Given the description of an element on the screen output the (x, y) to click on. 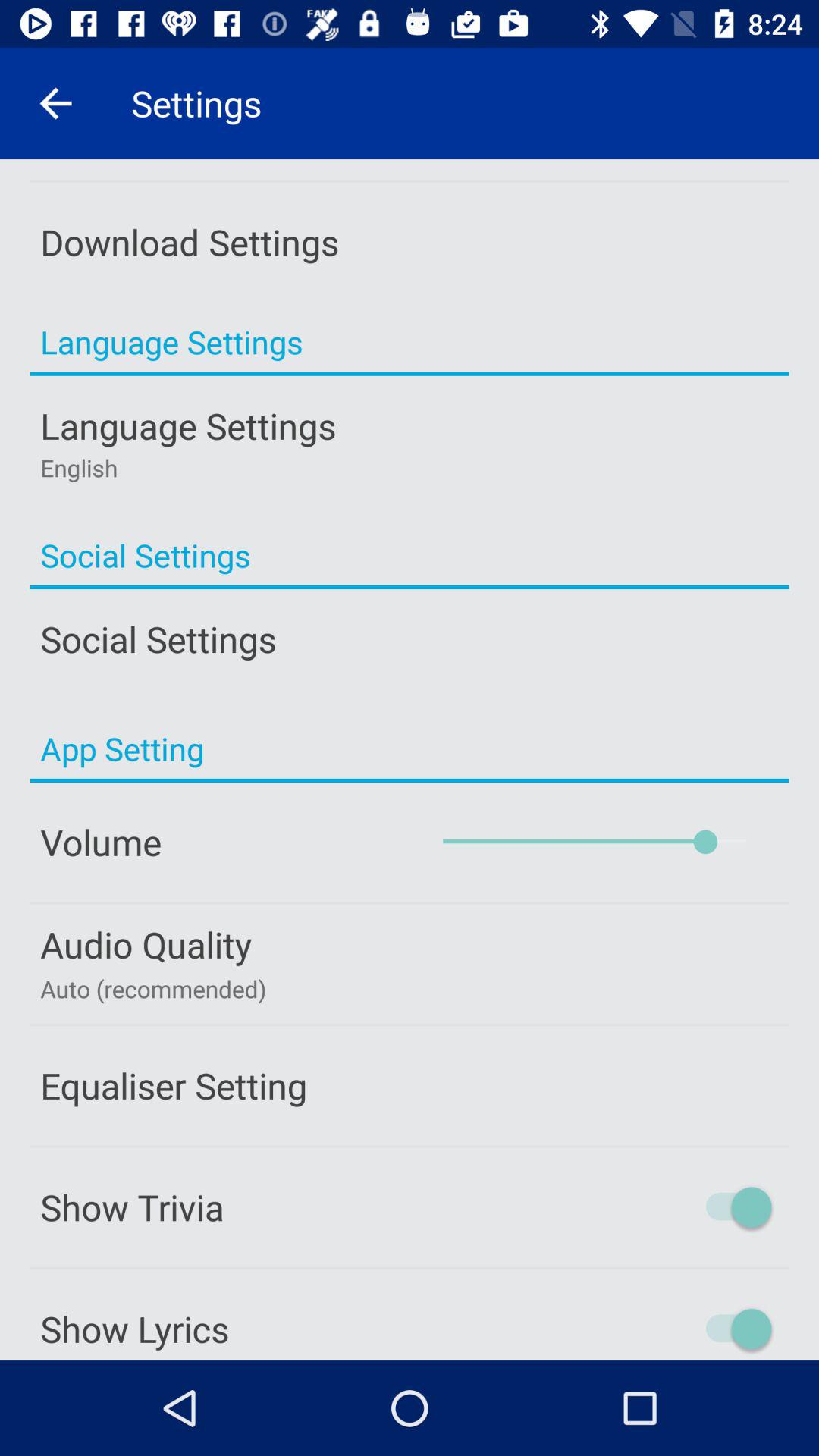
tap item to the left of settings icon (55, 103)
